Given the description of an element on the screen output the (x, y) to click on. 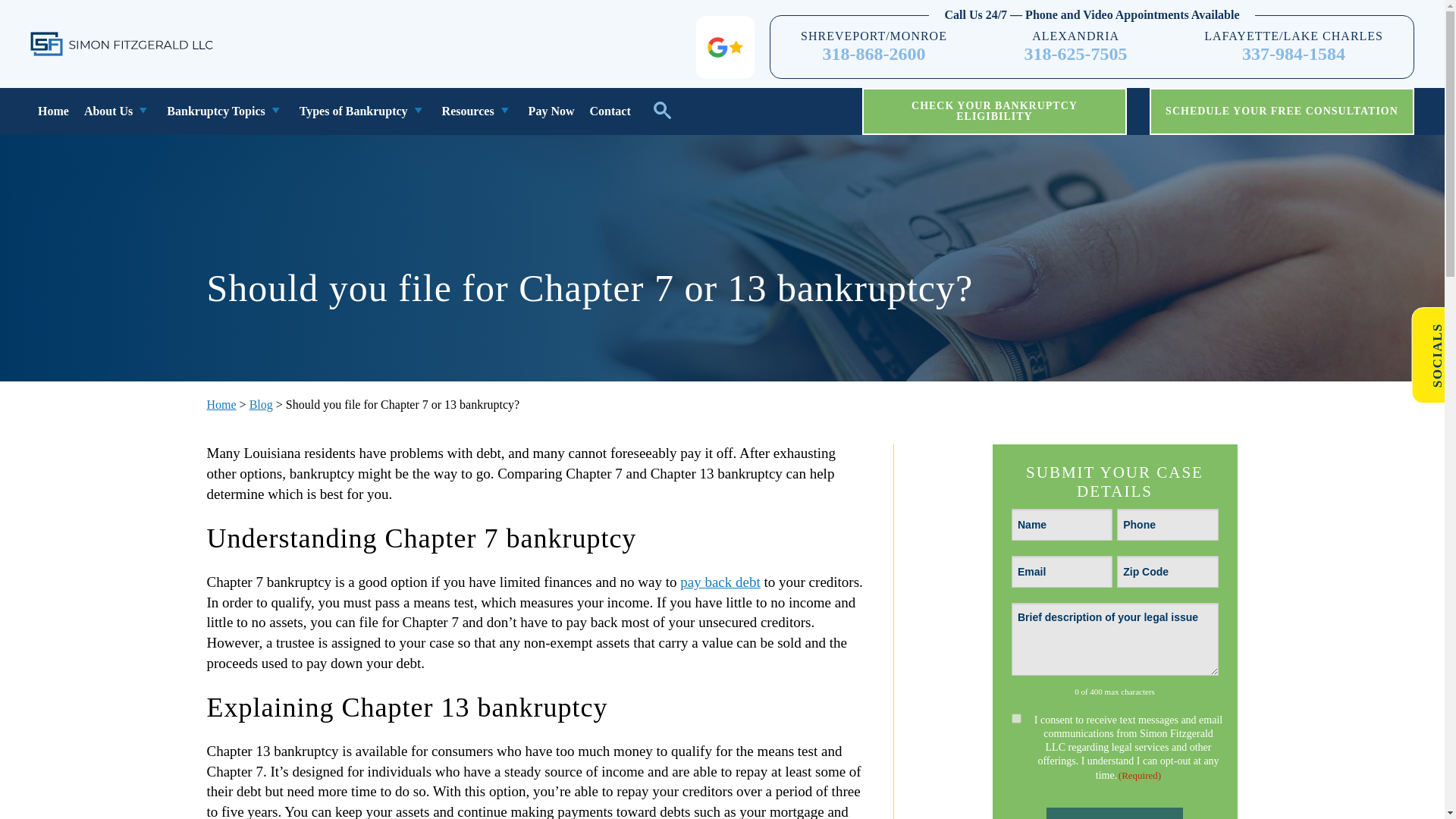
337-984-1584 (1293, 54)
318-625-7505 (1075, 54)
Simon Fitzgerald LLC (122, 43)
318-868-2600 (873, 54)
1 (1016, 718)
